Given the description of an element on the screen output the (x, y) to click on. 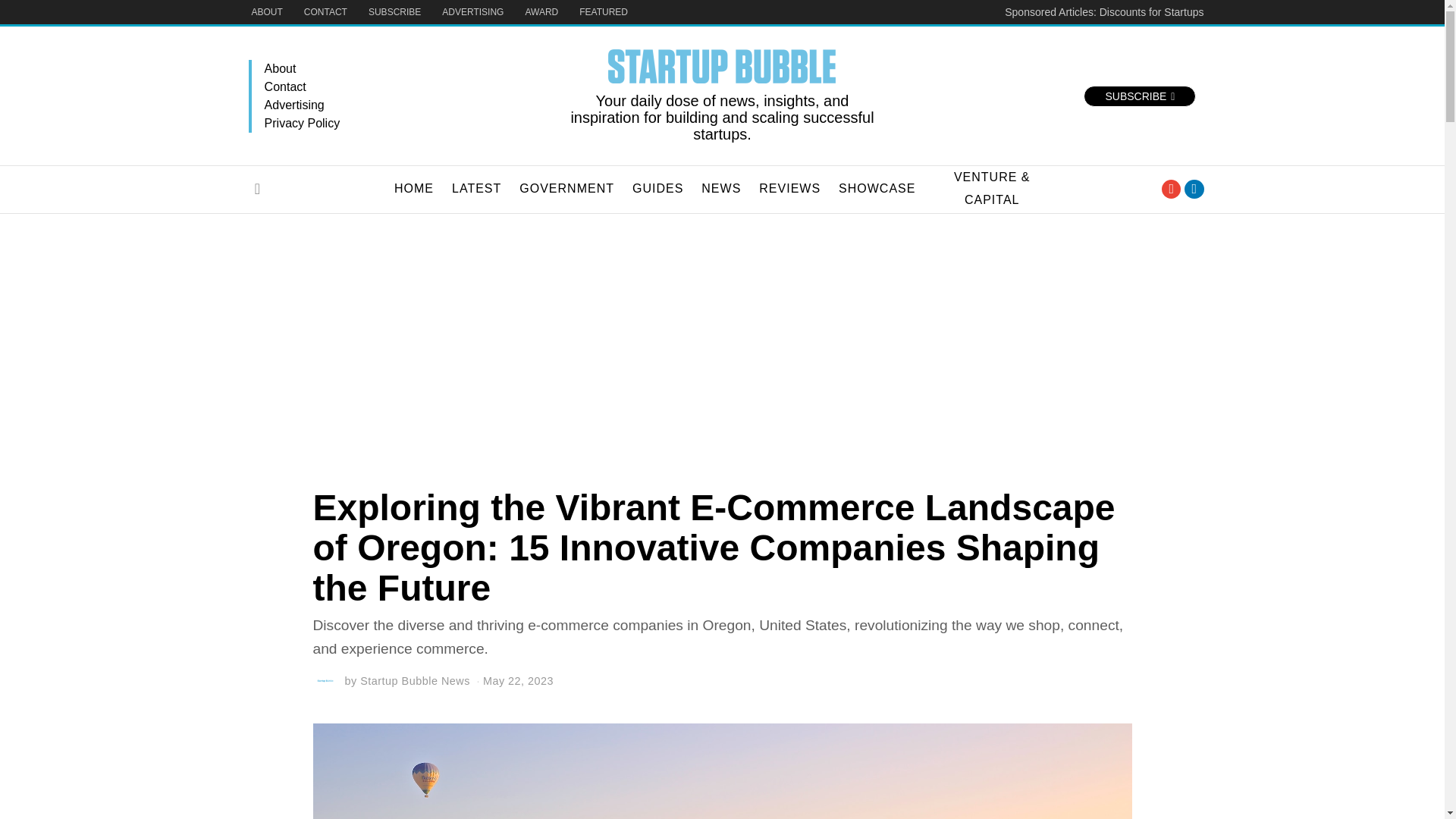
Go (258, 188)
SUBSCRIBE (1139, 96)
About (407, 68)
Privacy Policy (407, 123)
AWARD (541, 12)
CONTACT (326, 12)
ABOUT (267, 12)
GUIDES (658, 188)
ADVERTISING (471, 12)
